Given the description of an element on the screen output the (x, y) to click on. 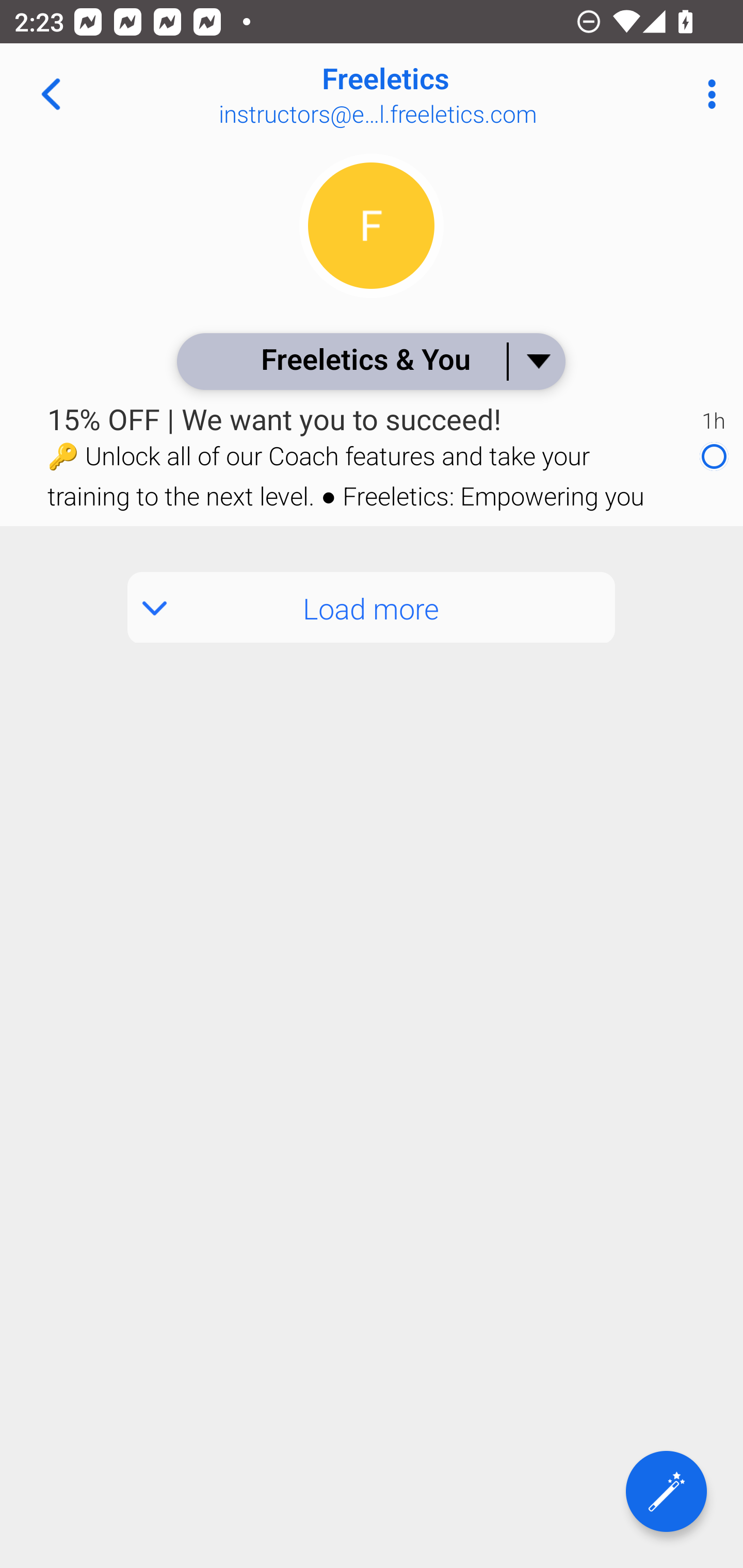
Navigate up (50, 93)
Freeletics instructors@email.freeletics.com (436, 93)
More Options (706, 93)
Freeletics & You (370, 361)
Load more (371, 607)
